Given the description of an element on the screen output the (x, y) to click on. 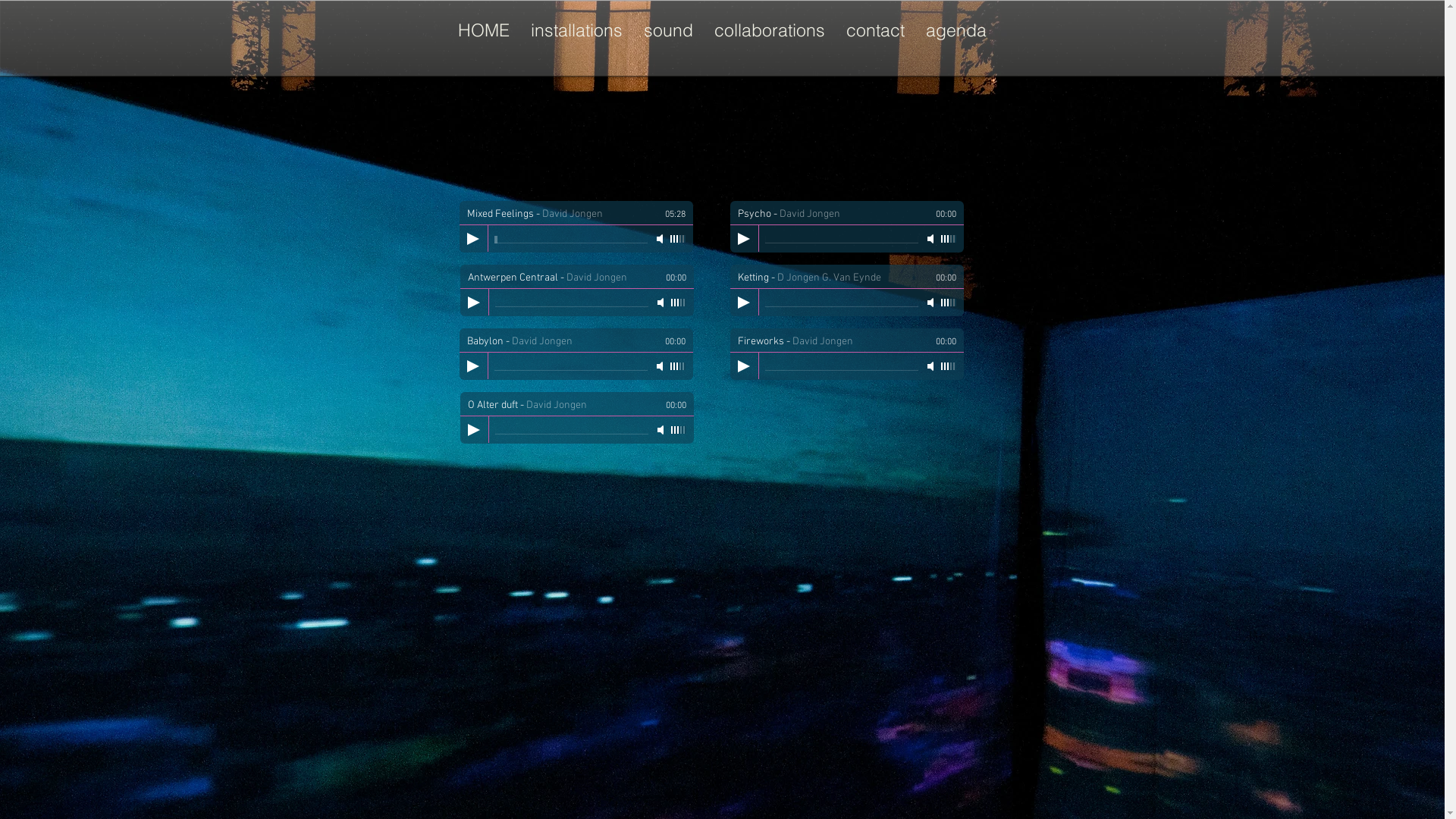
HOME Element type: text (483, 30)
contact Element type: text (875, 30)
agenda Element type: text (956, 30)
